Given the description of an element on the screen output the (x, y) to click on. 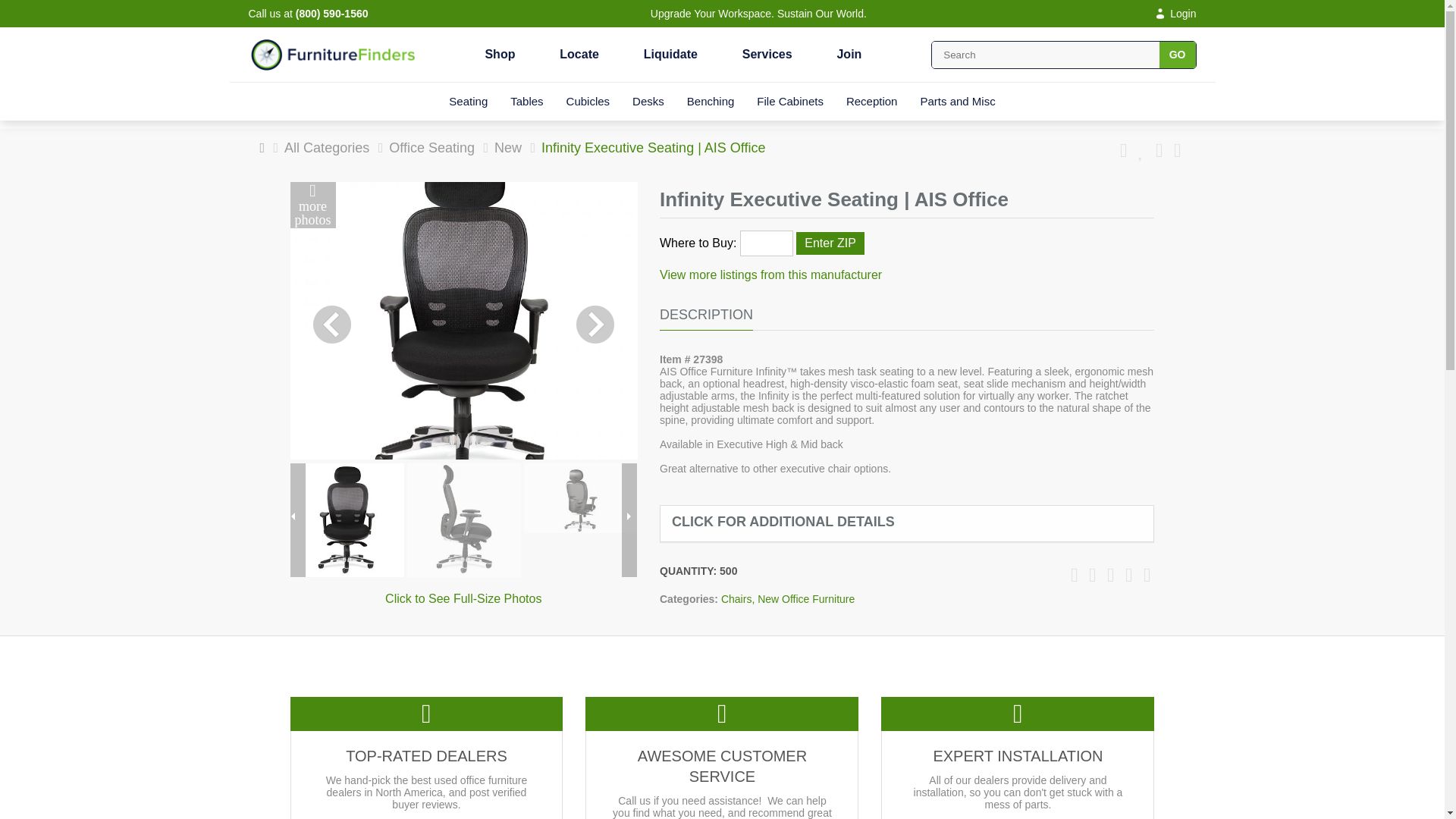
Tables (527, 101)
Cubicles (588, 101)
New (508, 147)
more photos (311, 204)
Office Seating (431, 147)
Login (1174, 13)
GO (1176, 53)
All Office Seating (737, 598)
All Categories (326, 147)
Seating (467, 101)
New Office Furniture (805, 598)
Services (767, 54)
Benching (711, 101)
Liquidate (670, 54)
Desks (647, 101)
